Given the description of an element on the screen output the (x, y) to click on. 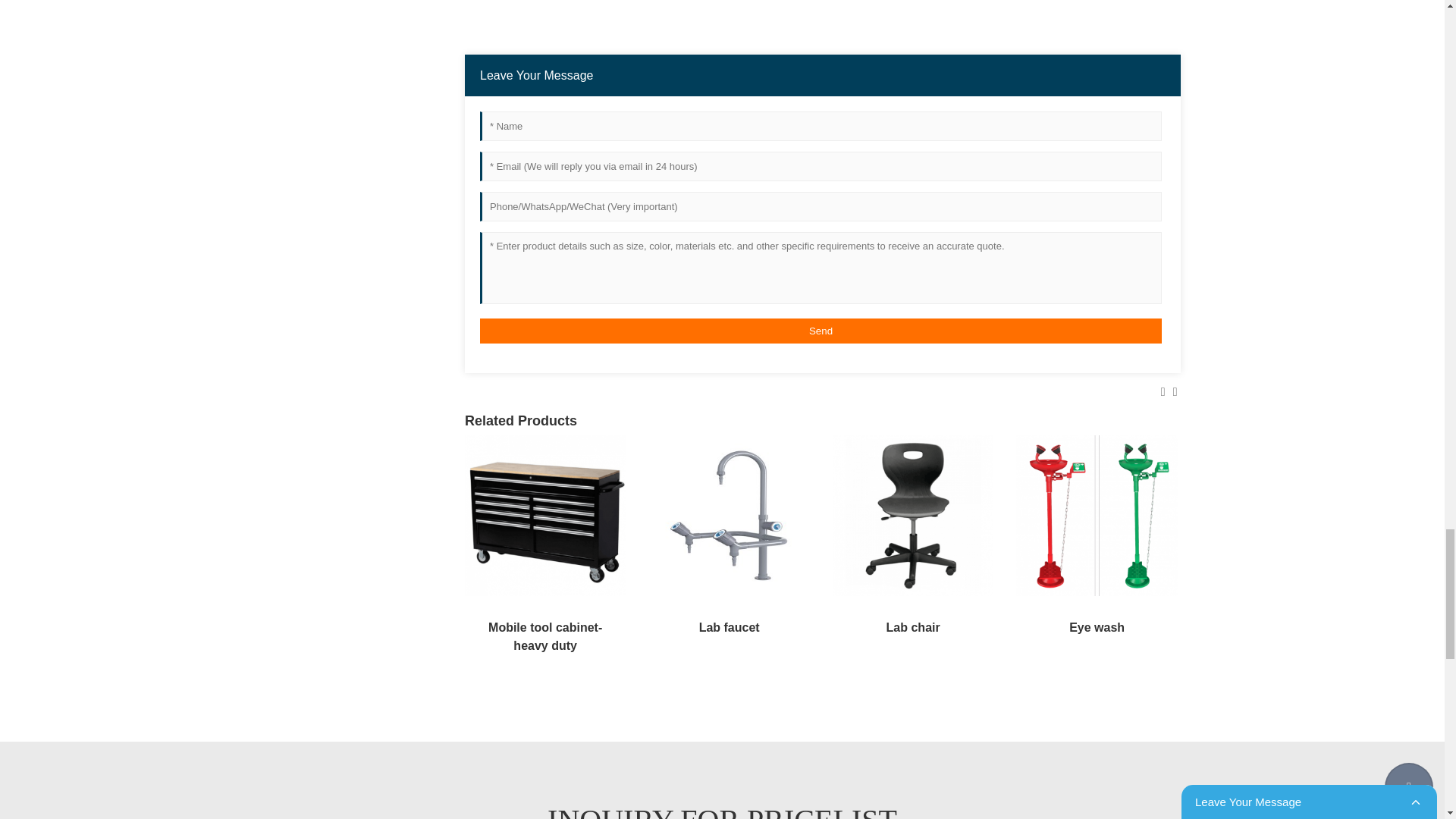
Lab chair (913, 514)
Eye wash (1096, 514)
Mobile tool cabinet-heavy duty (545, 514)
Lab faucet (728, 514)
